Given the description of an element on the screen output the (x, y) to click on. 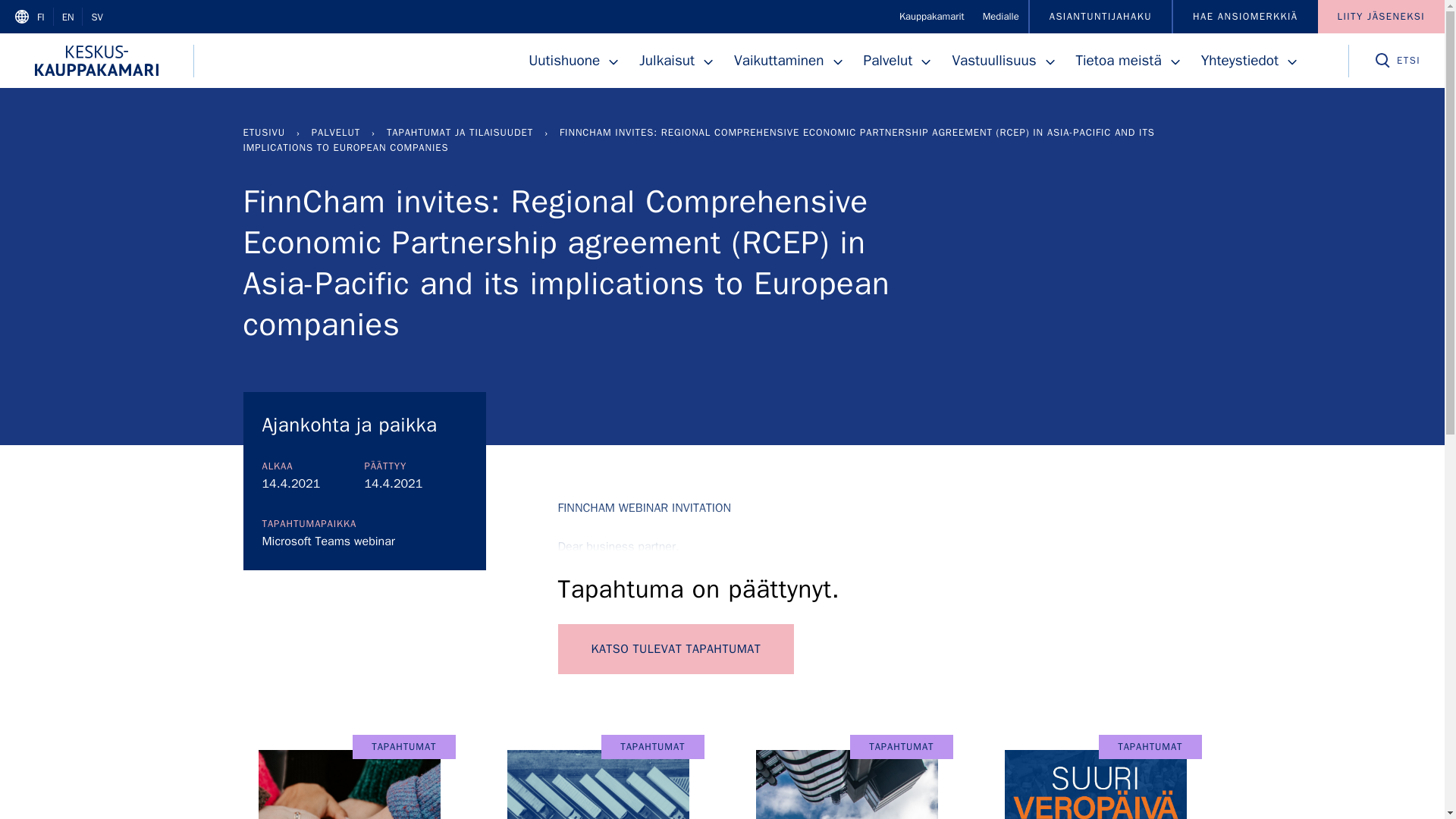
SV (96, 16)
EN (67, 16)
Etsi Keskuskauppakamarin verkkosivuilta (1396, 60)
Vaikuttaminen (781, 60)
Uutishuone (566, 60)
logo (96, 60)
Kauppakamarit (931, 16)
Julkaisut (669, 60)
ASIANTUNTIJAHAKU (1100, 16)
FI (40, 16)
Medialle (1000, 16)
